Given the description of an element on the screen output the (x, y) to click on. 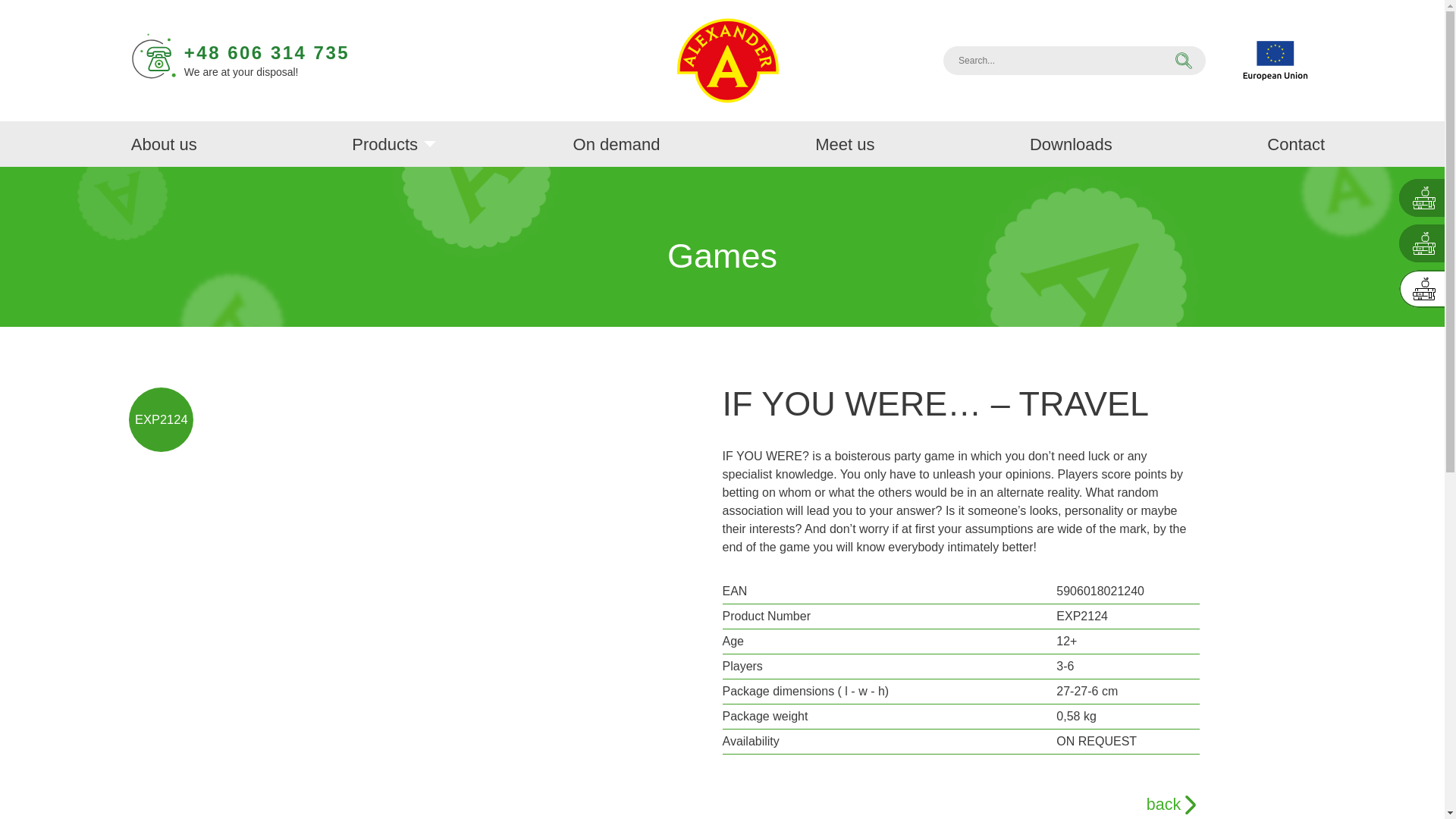
On demand (617, 143)
Kontakt (1295, 143)
Downloads (1070, 143)
Meet us (845, 143)
EU projects (1274, 60)
Products (384, 143)
About us (163, 143)
back (960, 804)
Products (384, 143)
Contact (1295, 143)
